Given the description of an element on the screen output the (x, y) to click on. 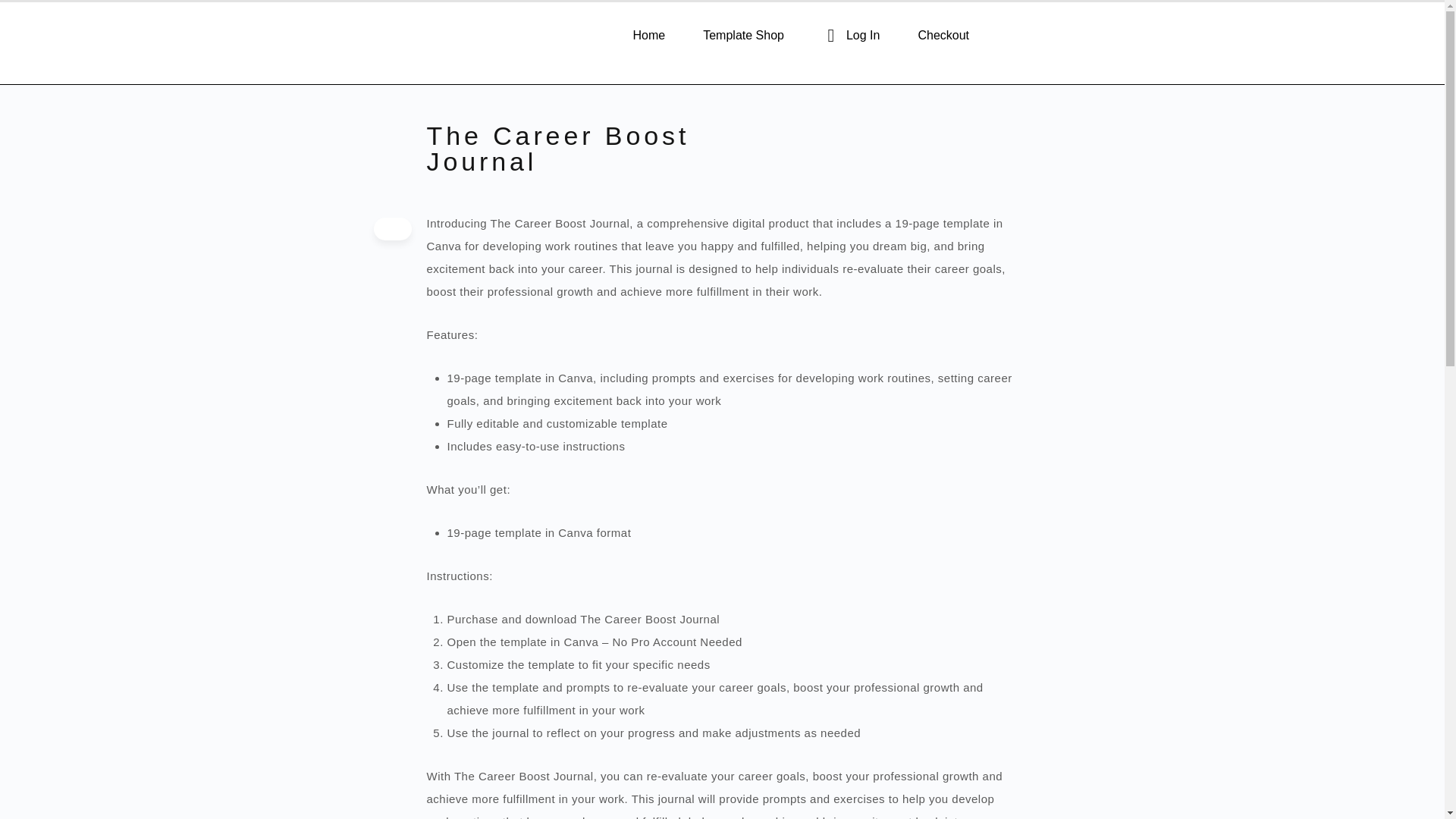
Template Shop (743, 35)
Log In (850, 35)
Home (649, 35)
Checkout (943, 35)
